Given the description of an element on the screen output the (x, y) to click on. 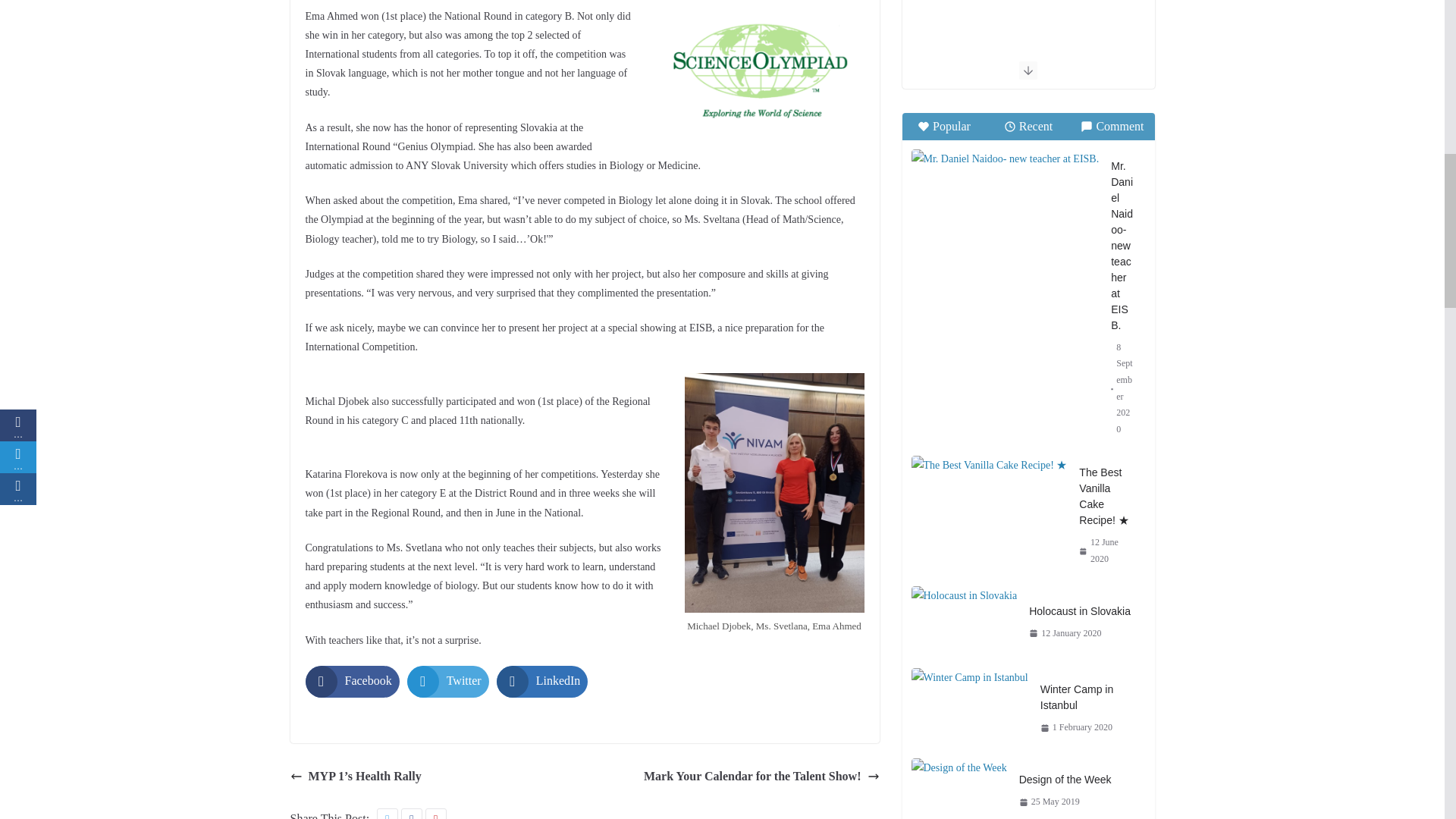
Facebook (351, 681)
LinkedIn (542, 681)
Mark Your Calendar for the Talent Show! (761, 776)
Twitter (448, 681)
